Given the description of an element on the screen output the (x, y) to click on. 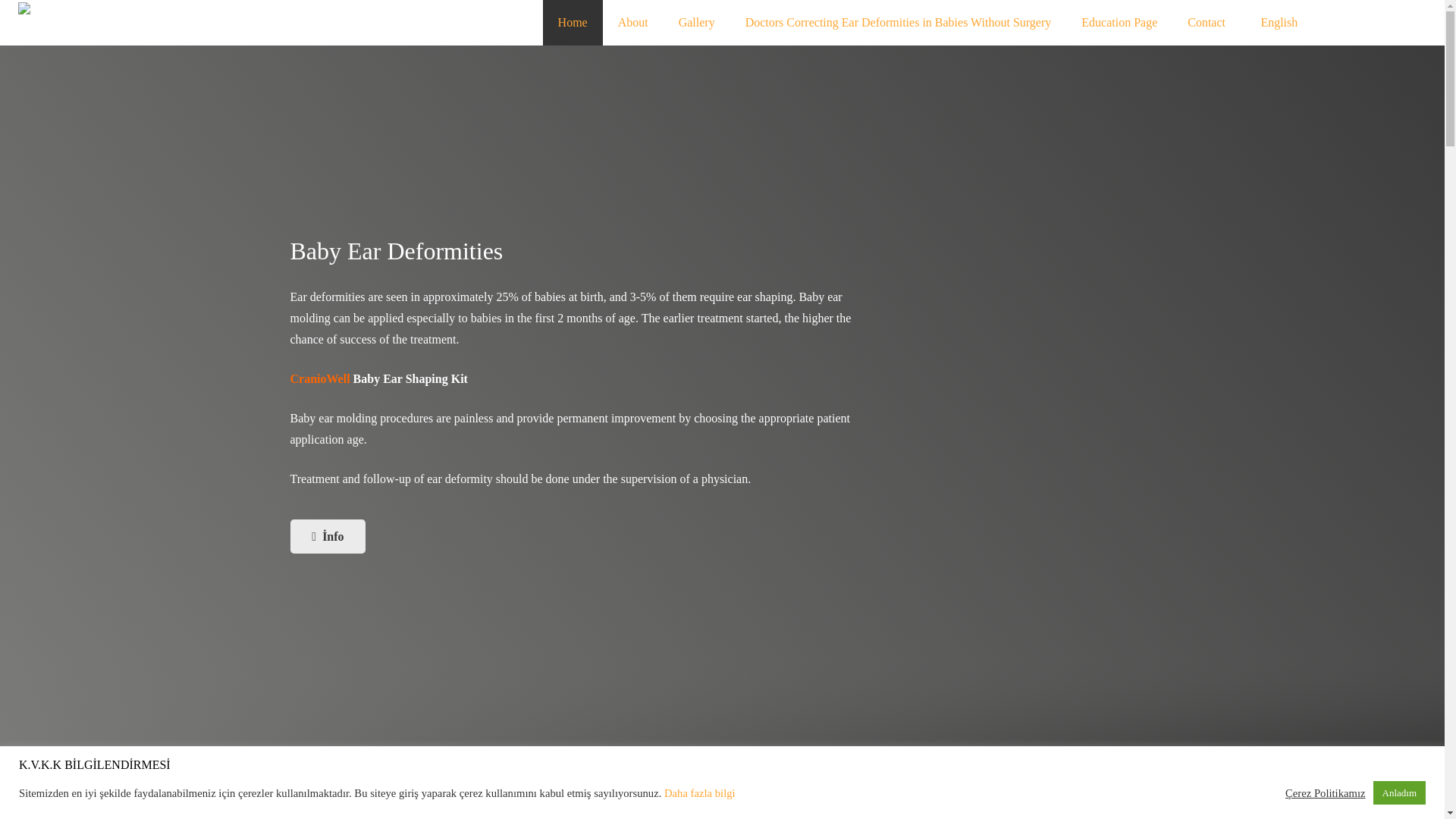
Education Page (1118, 22)
English (1276, 22)
Gallery (696, 22)
Contact (1206, 22)
English (1276, 22)
Doctors Correcting Ear Deformities in Babies Without Surgery (898, 22)
About (632, 22)
Daha fazla bilgi (699, 793)
Home (572, 22)
